Given the description of an element on the screen output the (x, y) to click on. 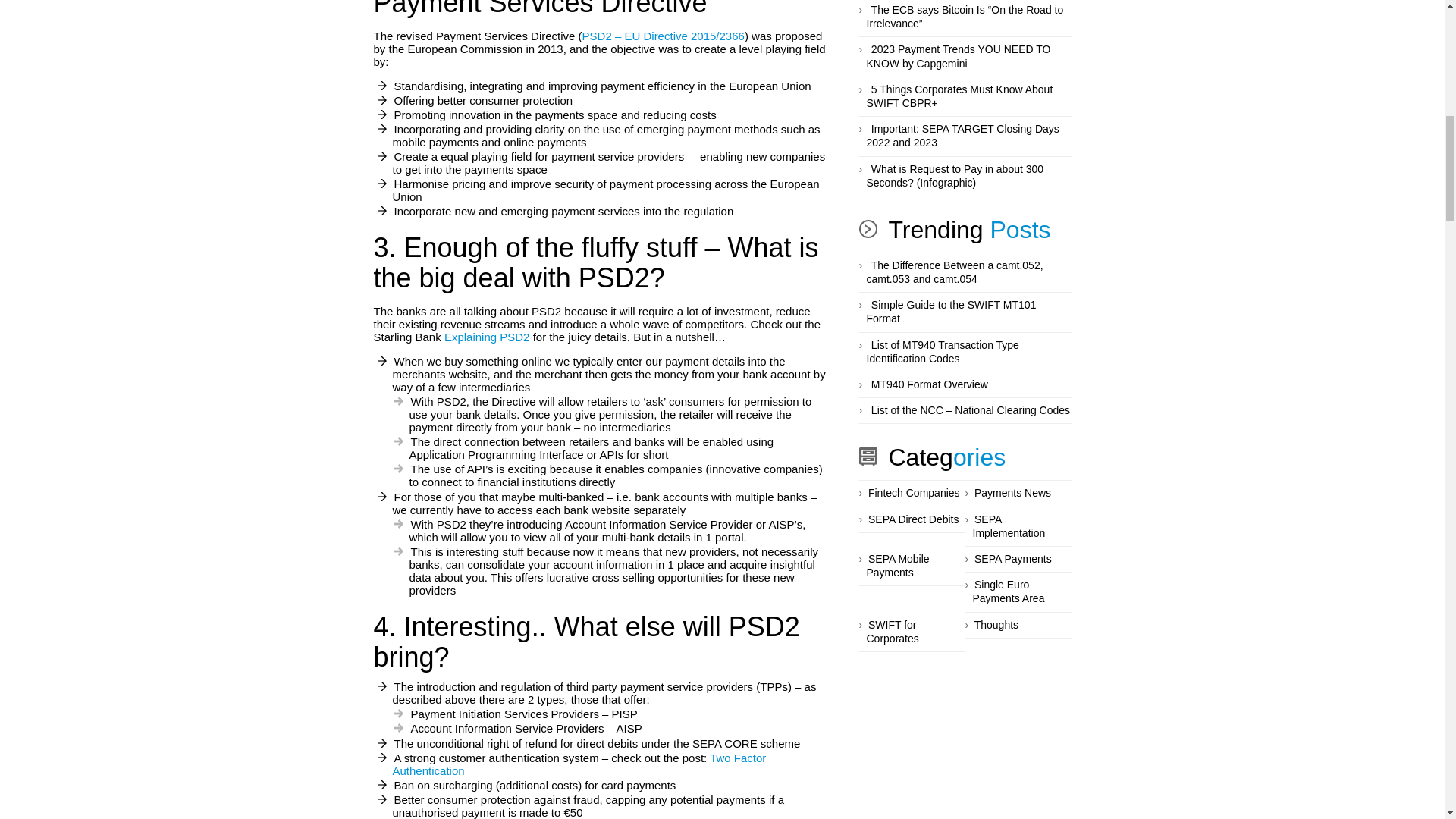
Explaining PSD2 (486, 337)
Two Factor Authentication Explained in About 5 Minutes (580, 764)
Explaining PSD2 (486, 337)
Two Factor Authentication (580, 764)
